Given the description of an element on the screen output the (x, y) to click on. 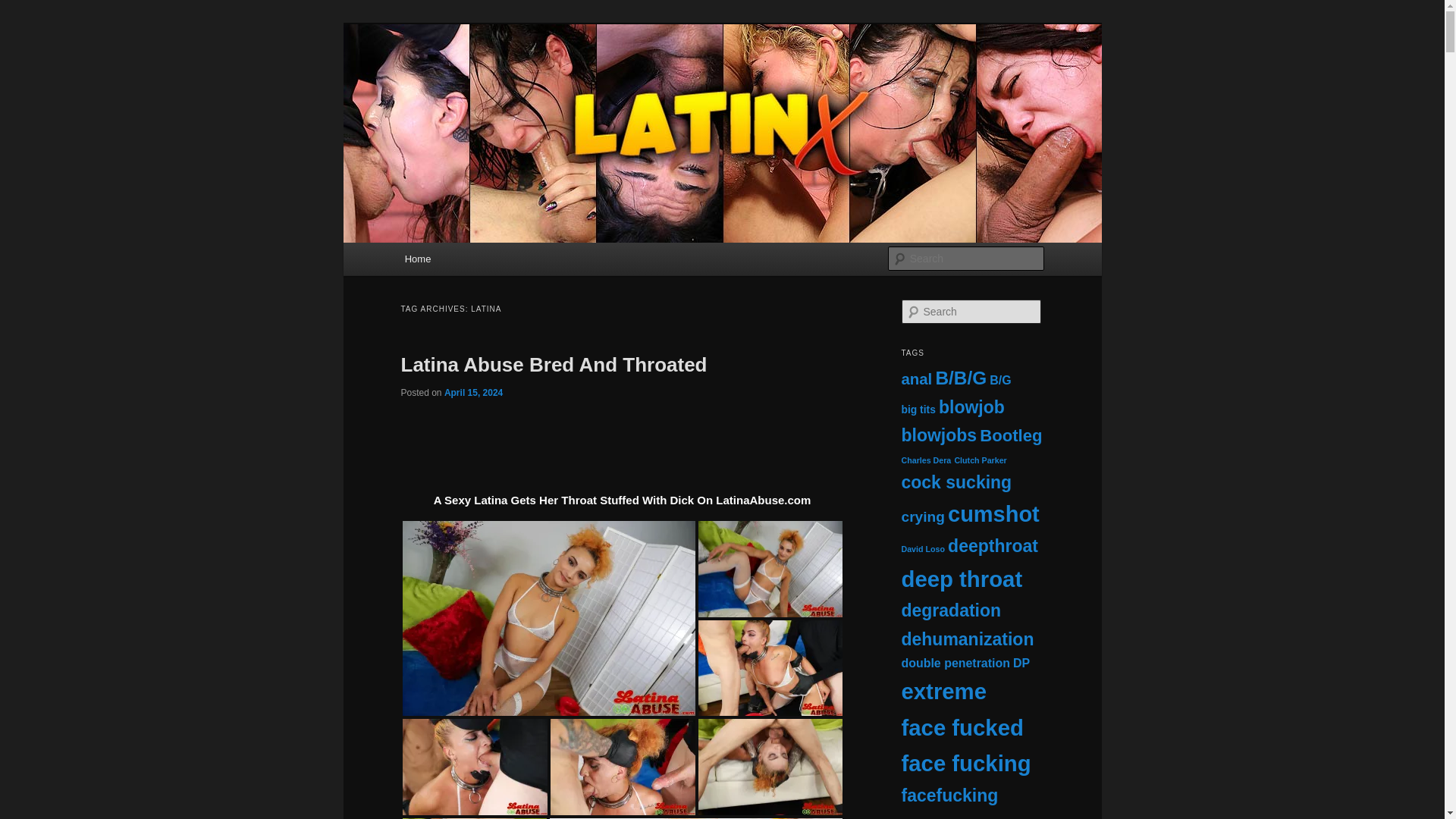
Latina Abuse Bred And Throated (553, 363)
latinaabuse-bred-and-throated-016 (474, 766)
latinaabuse-bred-and-throated-011 (769, 667)
latinaabuse-bred-and-throated-003 (547, 617)
latinx.me (449, 78)
April 15, 2024 (473, 391)
7:00 pm (473, 391)
latinaabuse-bred-and-throated-019 (769, 766)
Search (24, 8)
latinaabuse-bred-and-throated-017 (622, 766)
Home (417, 258)
latinaabuse-bred-and-throated-005 (769, 568)
